Given the description of an element on the screen output the (x, y) to click on. 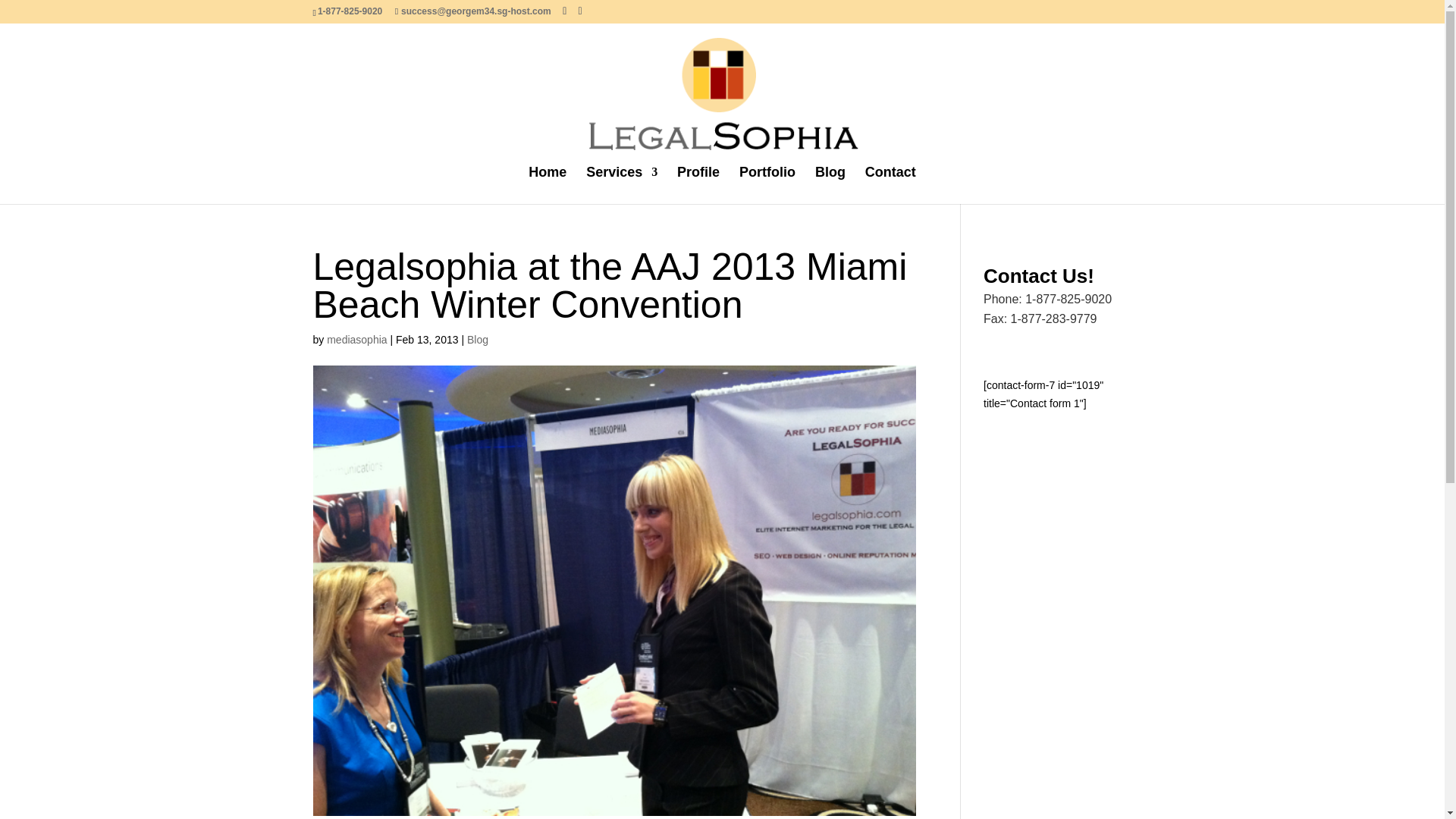
Portfolio (766, 184)
Profile (698, 184)
Home (547, 184)
Contact (889, 184)
Services (622, 184)
Blog (477, 339)
mediasophia (356, 339)
Posts by mediasophia (356, 339)
